Given the description of an element on the screen output the (x, y) to click on. 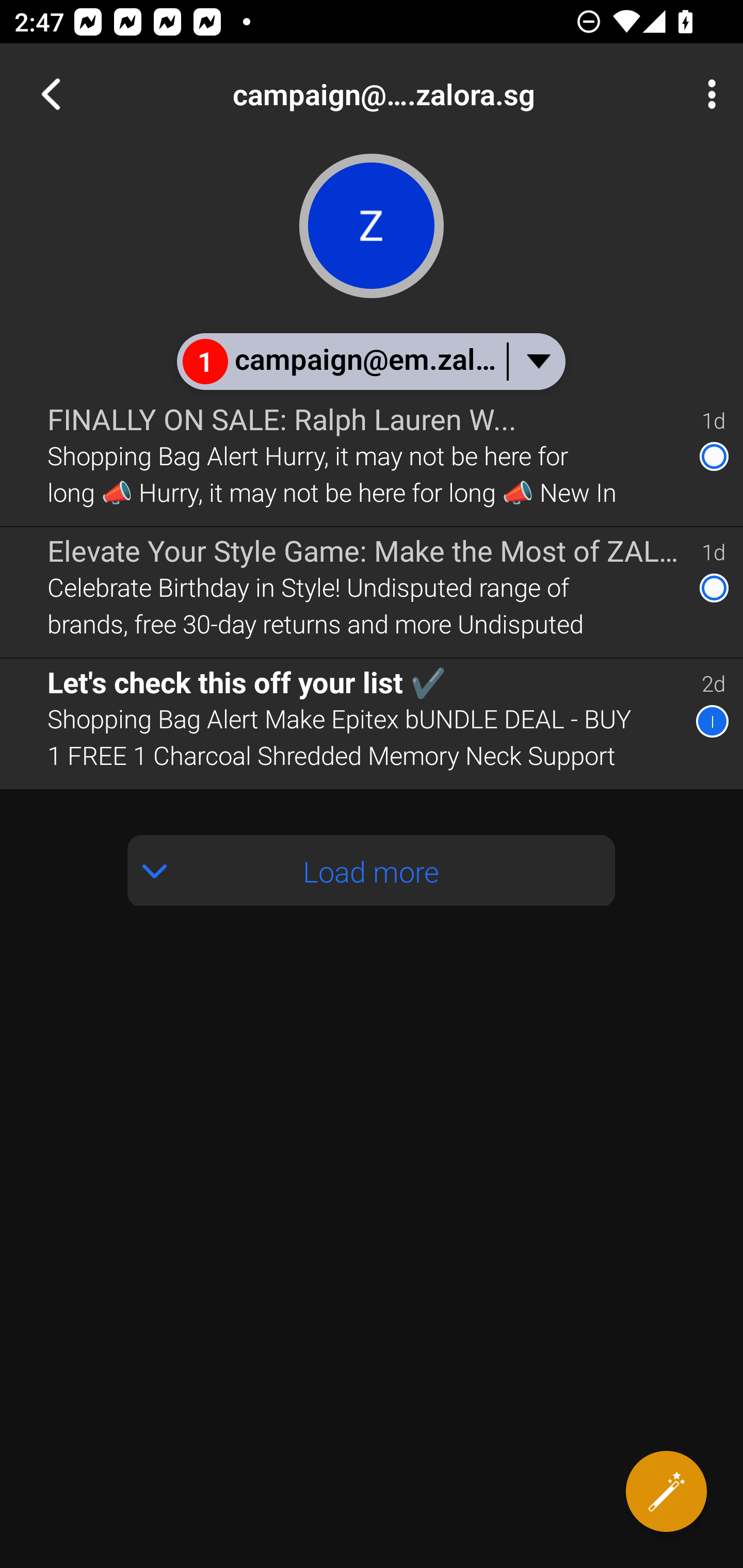
Navigate up (50, 93)
campaign@em.zalora.sg (436, 93)
More Options (706, 93)
1 campaign@em.zalora.sg & You (370, 361)
Load more (371, 870)
